Given the description of an element on the screen output the (x, y) to click on. 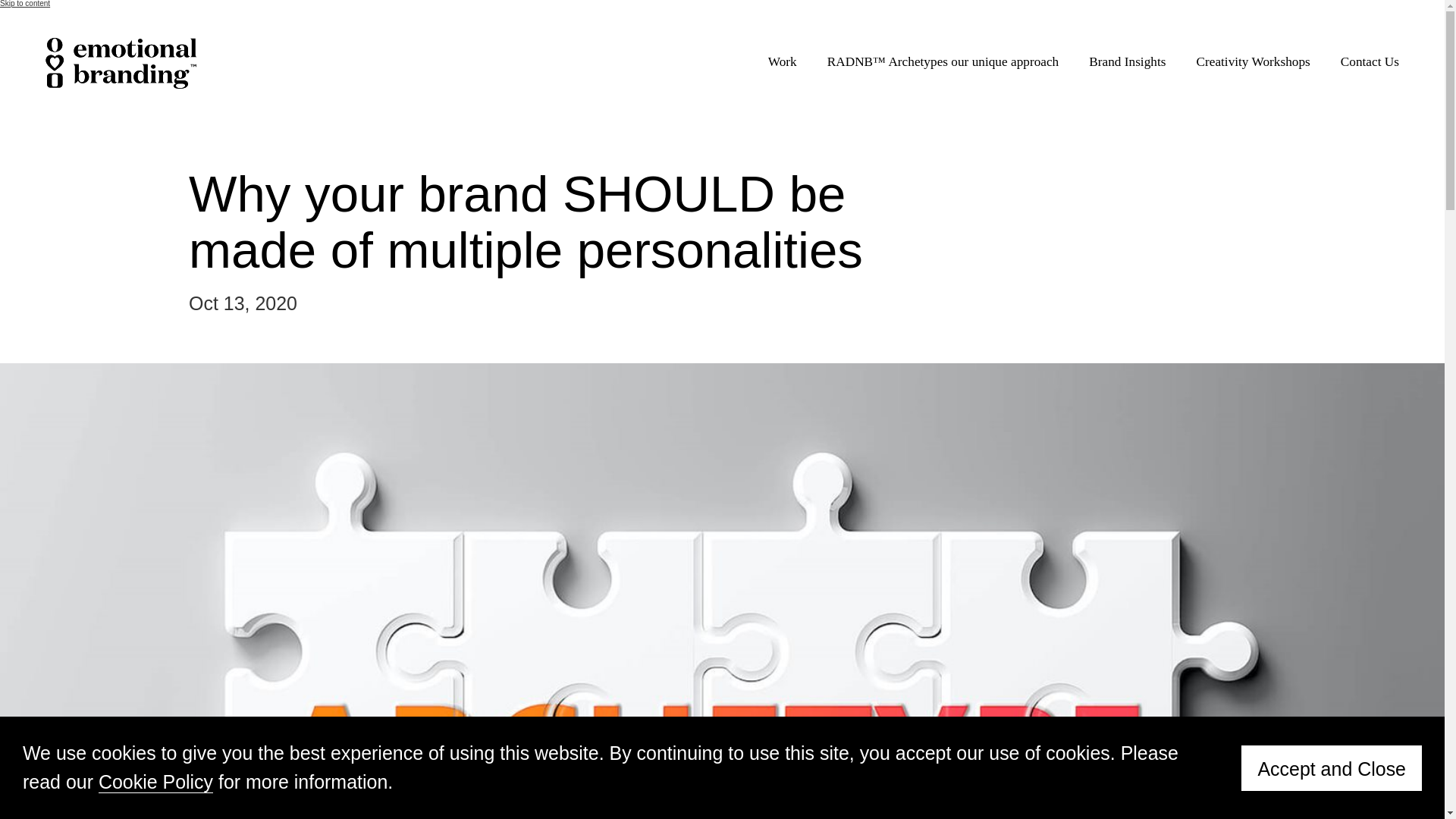
Skip to content (24, 3)
Work (782, 62)
Brand Insights (1127, 62)
Accept and Close (1331, 768)
Cookie Policy (155, 782)
Contact Us (1369, 62)
Creativity Workshops (1251, 62)
